Given the description of an element on the screen output the (x, y) to click on. 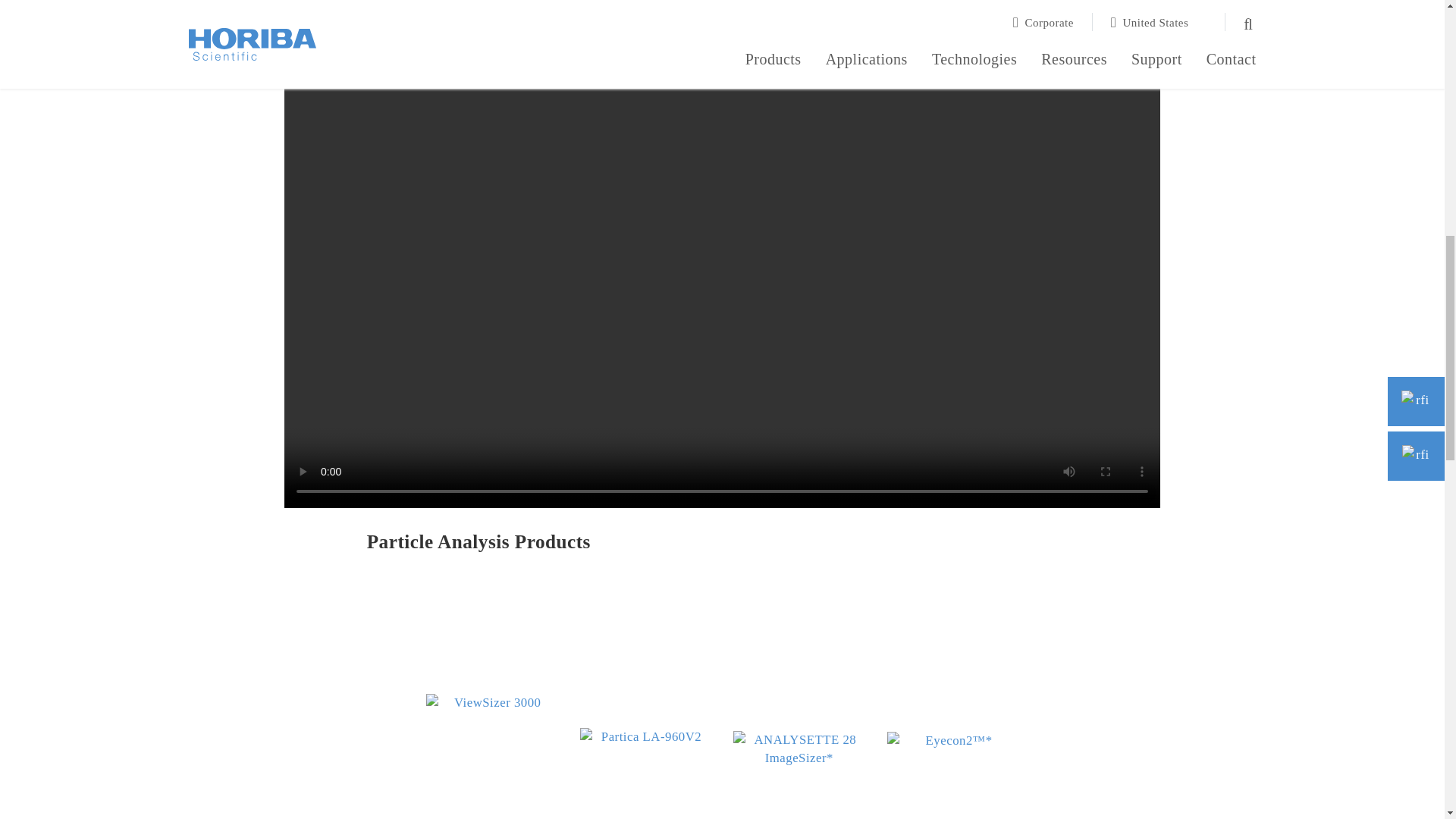
ViewSizer 3000 (491, 713)
Partica LA-960V2 (645, 713)
LA-960V2 (645, 772)
